Given the description of an element on the screen output the (x, y) to click on. 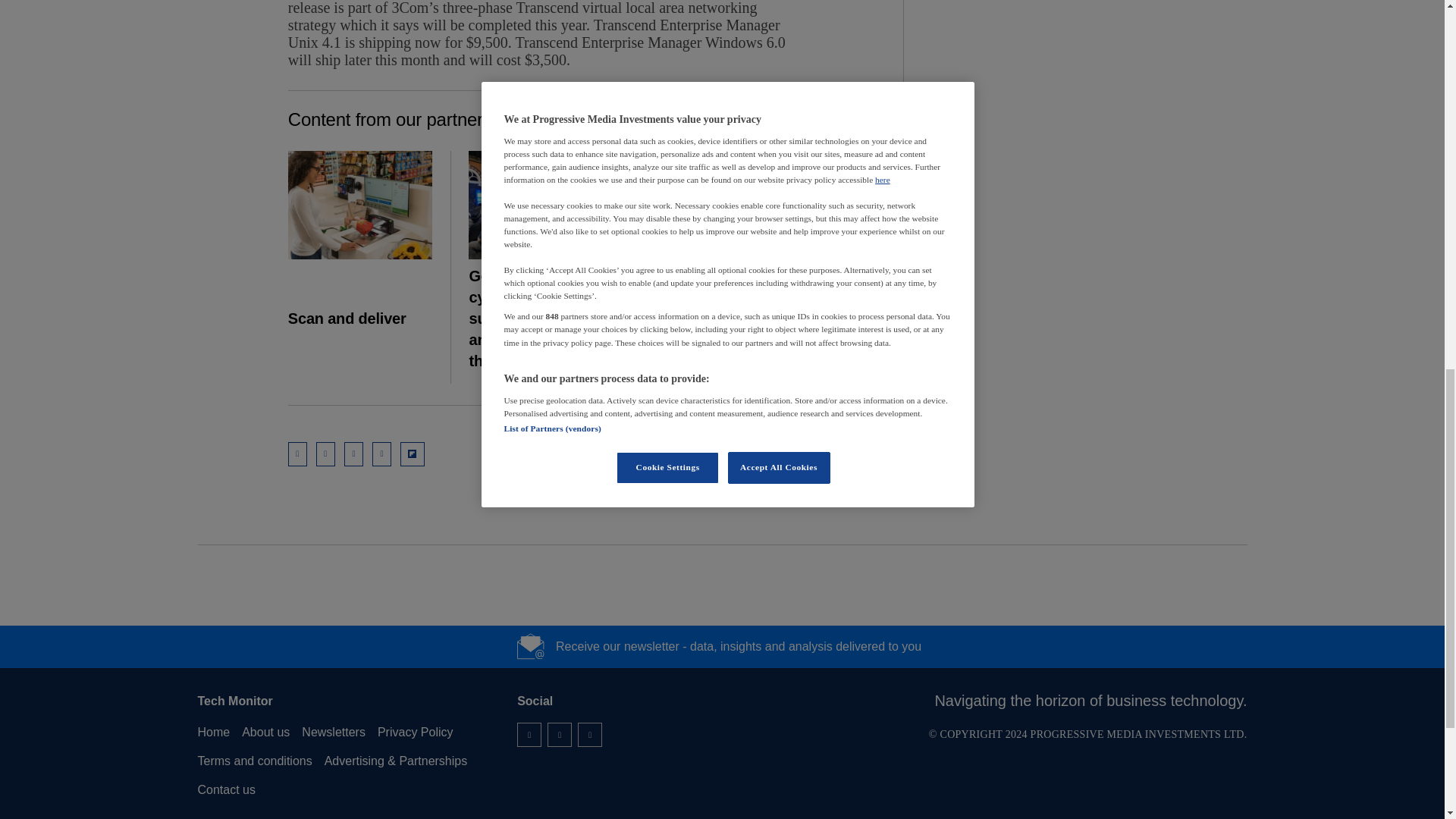
Share in an email (297, 454)
Scan and deliver (360, 204)
Share on Twitter (352, 454)
Share on LinkedIN (324, 454)
Share on Flipboard (412, 454)
Share on facebook (381, 454)
